Given the description of an element on the screen output the (x, y) to click on. 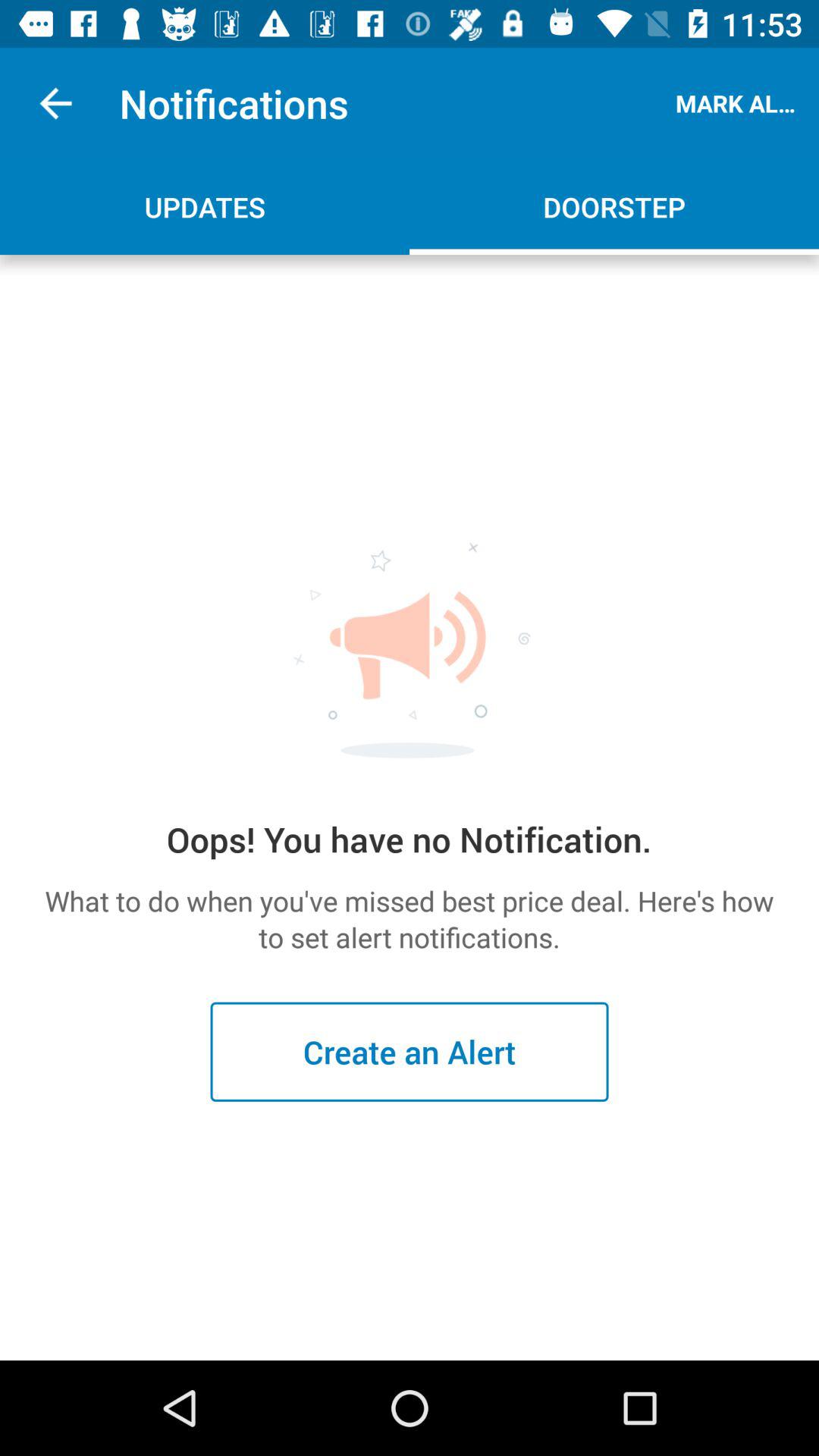
press mark all read (739, 103)
